Given the description of an element on the screen output the (x, y) to click on. 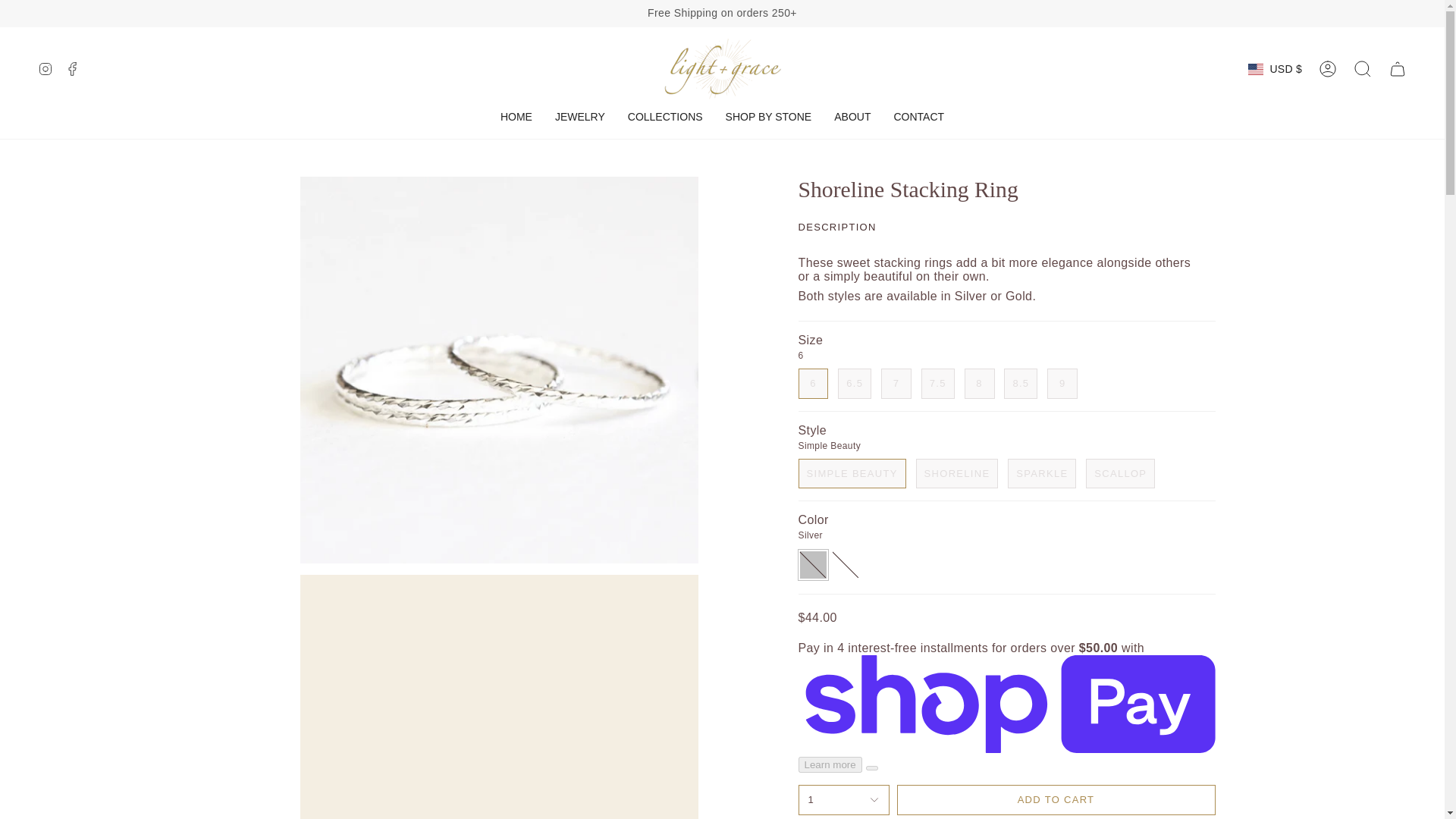
My Account (1327, 68)
Cart (1397, 68)
Search (1362, 68)
